Given the description of an element on the screen output the (x, y) to click on. 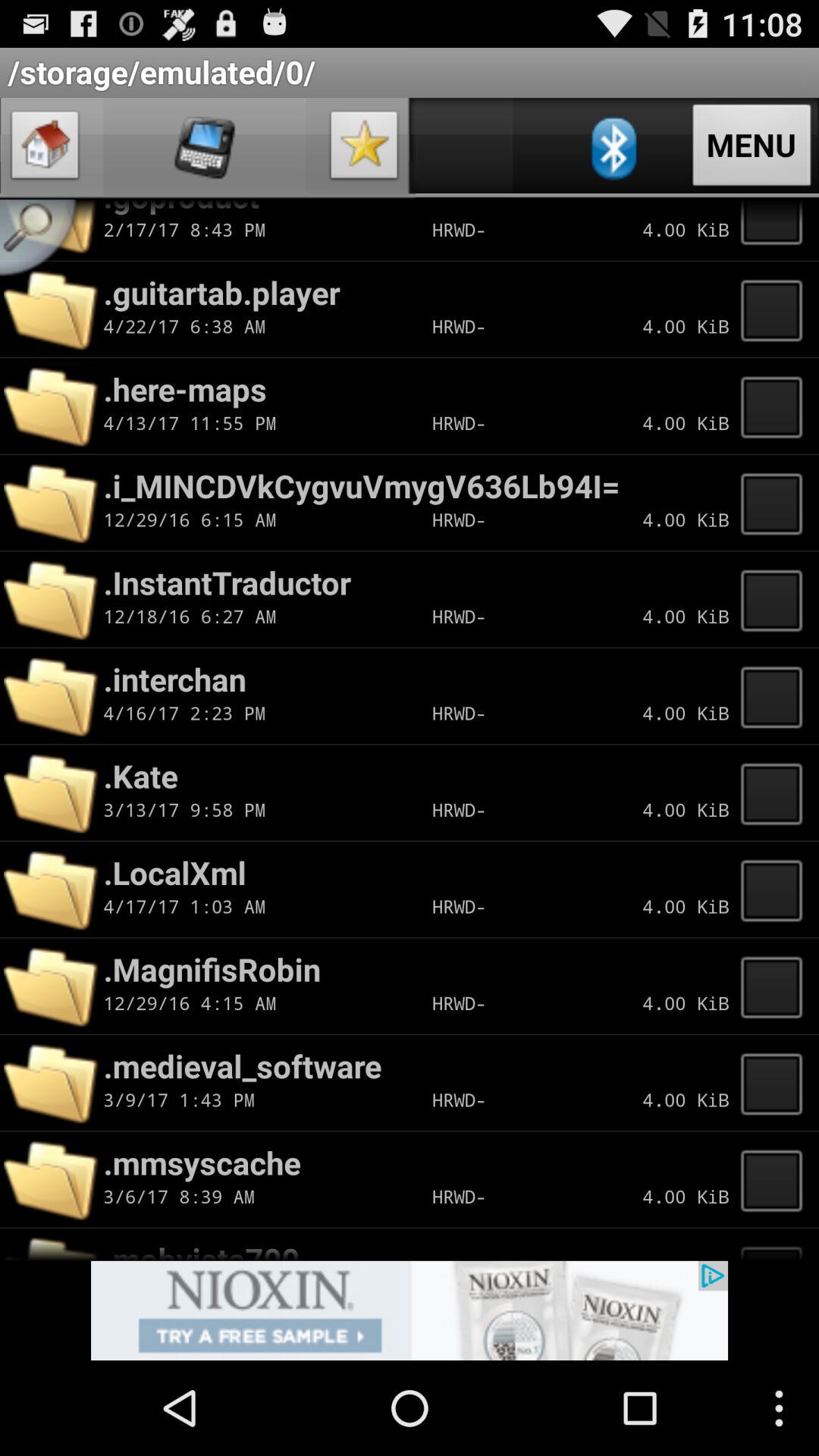
icon page (363, 148)
